Given the description of an element on the screen output the (x, y) to click on. 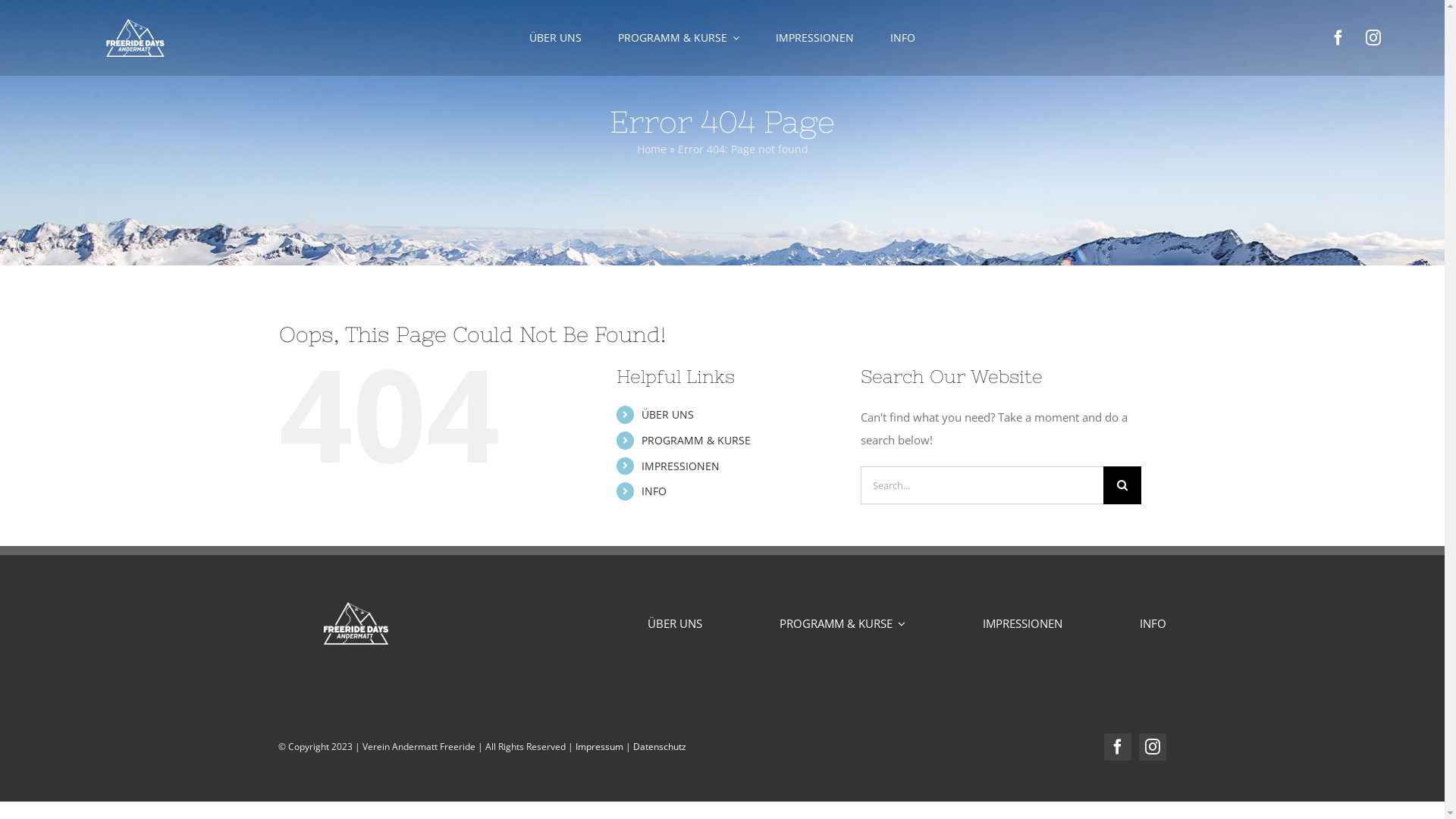
Home Element type: text (651, 148)
Impressum Element type: text (599, 746)
FDA_Logo_2x1_410x120 Element type: hover (355, 623)
Datenschutz Element type: text (659, 746)
PROGRAMM & KURSE Element type: text (842, 623)
INFO Element type: text (653, 490)
IMPRESSIONEN Element type: text (1022, 623)
INFO Element type: text (902, 37)
INFO Element type: text (1152, 623)
IMPRESSIONEN Element type: text (680, 465)
PROGRAMM & KURSE Element type: text (695, 440)
IMPRESSIONEN Element type: text (814, 37)
PROGRAMM & KURSE Element type: text (678, 37)
